Given the description of an element on the screen output the (x, y) to click on. 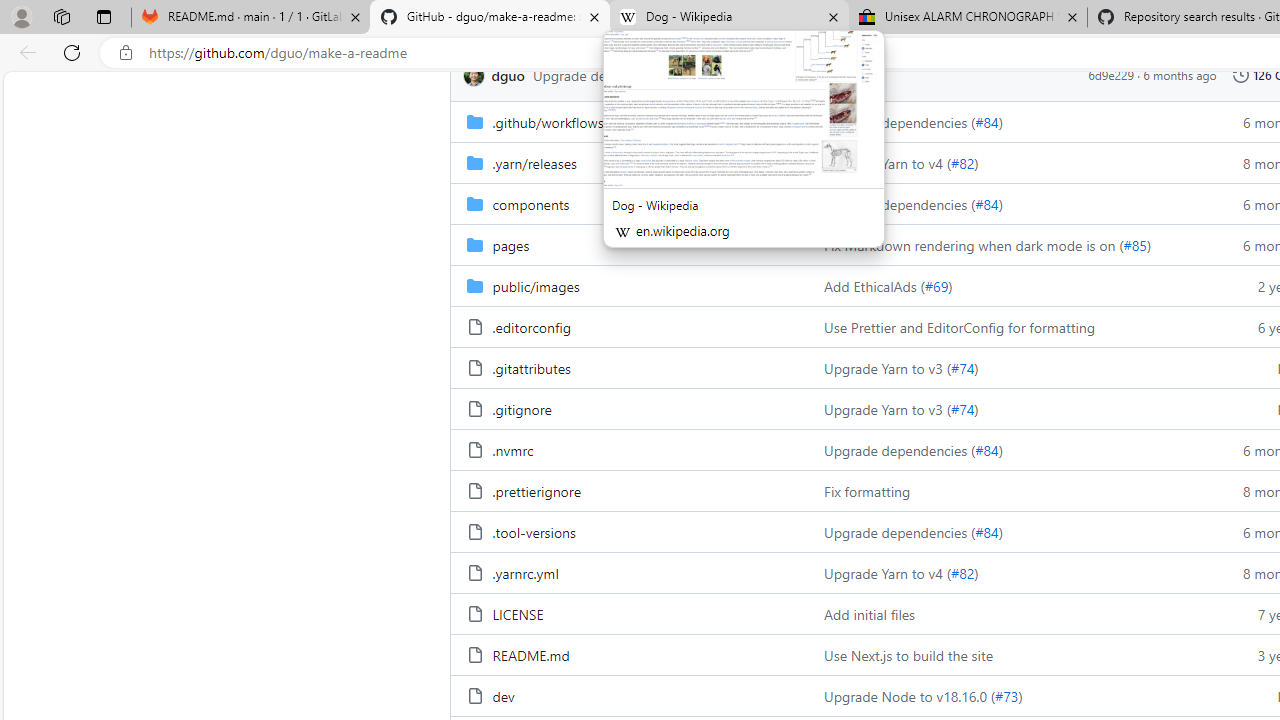
Fix Markdown rendering when dark mode is on ( (973, 244)
.nvmrc, (File) (512, 449)
Add initial files (1008, 613)
.yarn/releases, (Directory) (629, 161)
.yarnrc.yml, (File) (629, 572)
dguo (476, 74)
Tab actions menu (104, 16)
success (769, 75)
.gitignore, (File) (629, 408)
Upgrade Yarn to v4 ( (887, 573)
.github/workflows, (Directory) (547, 121)
Upgrade dependencies ( (899, 532)
Workspaces (61, 16)
Upgrade Yarn to v3 ( (887, 408)
